Given the description of an element on the screen output the (x, y) to click on. 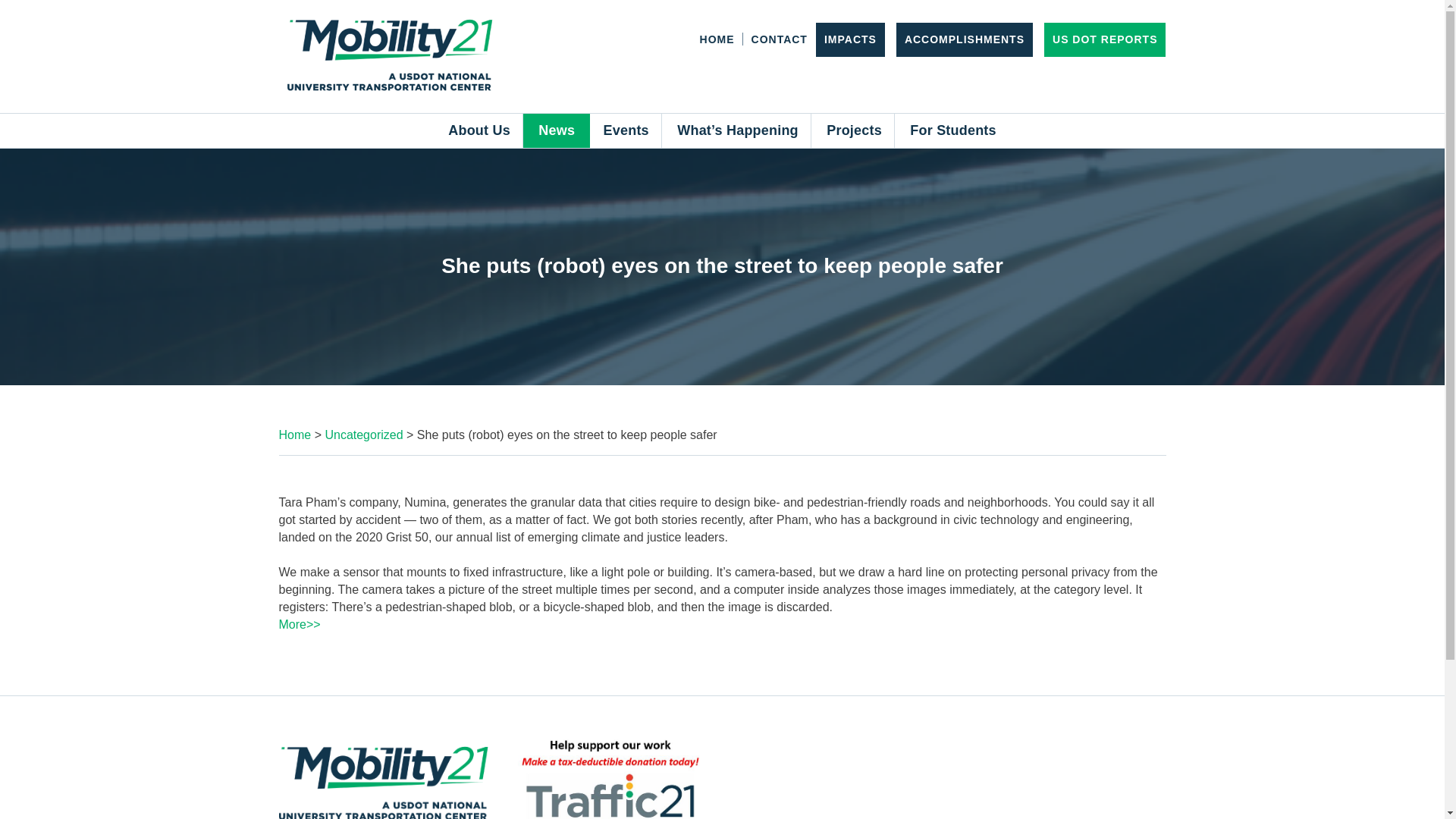
Go to M21. (295, 434)
IMPACTS (850, 39)
CONTACT (779, 39)
Go to the Uncategorized category archives. (363, 434)
HOME (717, 39)
US DOT REPORTS (1104, 39)
About Us (478, 130)
ACCOMPLISHMENTS (964, 39)
